Given the description of an element on the screen output the (x, y) to click on. 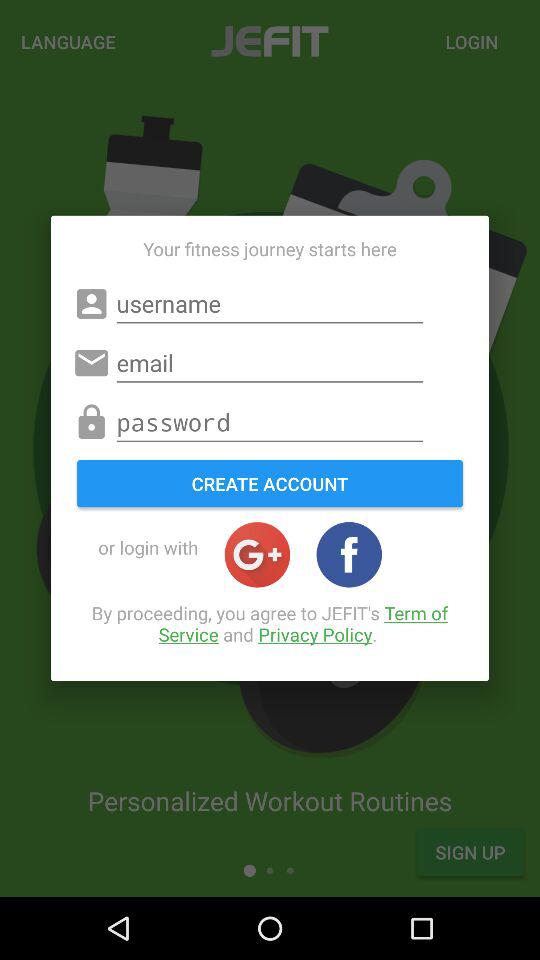
share to facebook (349, 554)
